Given the description of an element on the screen output the (x, y) to click on. 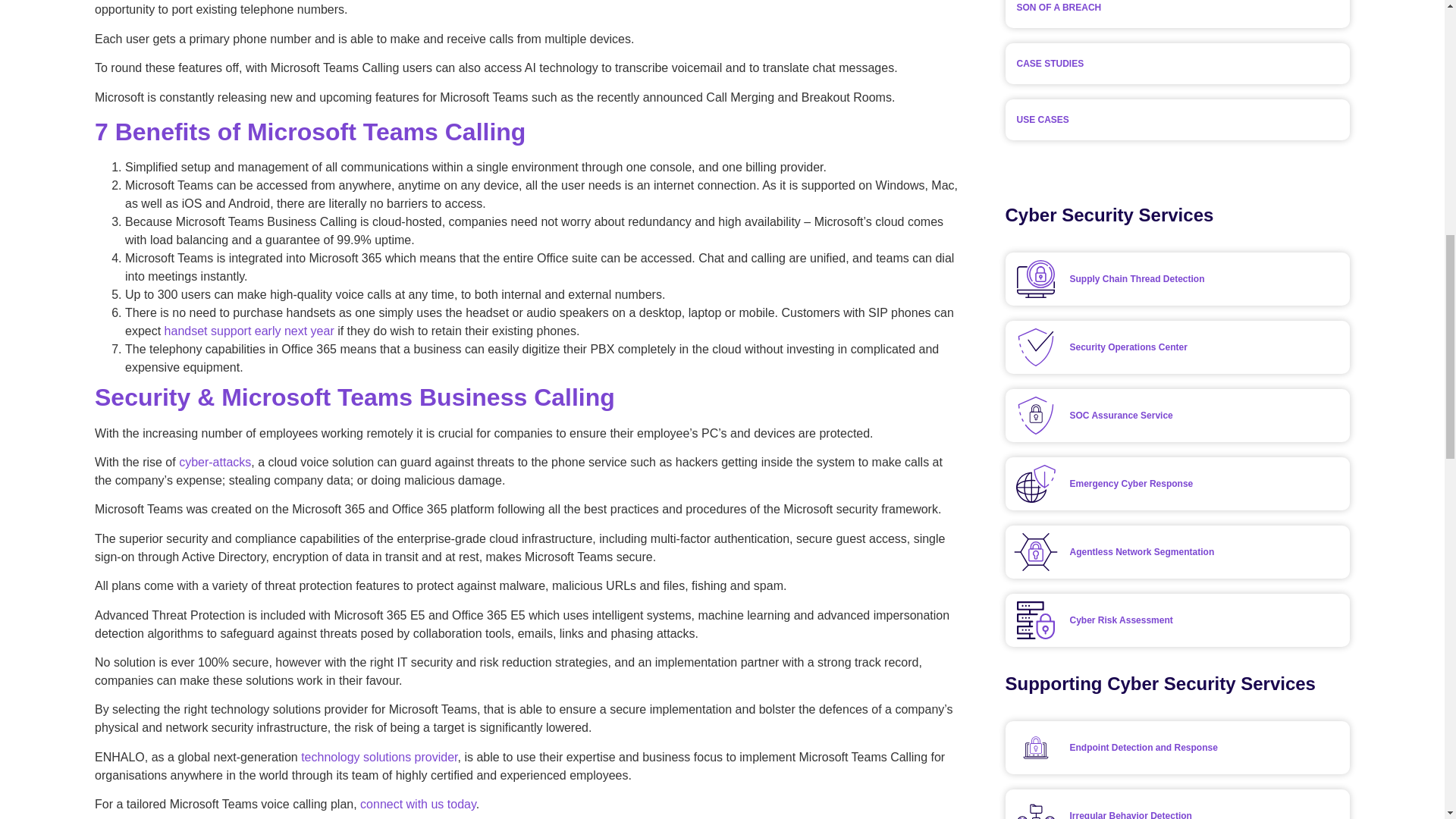
handset support early next year (250, 330)
technology solutions provider (379, 757)
cyber-attacks (214, 461)
connect with us today (417, 803)
